Given the description of an element on the screen output the (x, y) to click on. 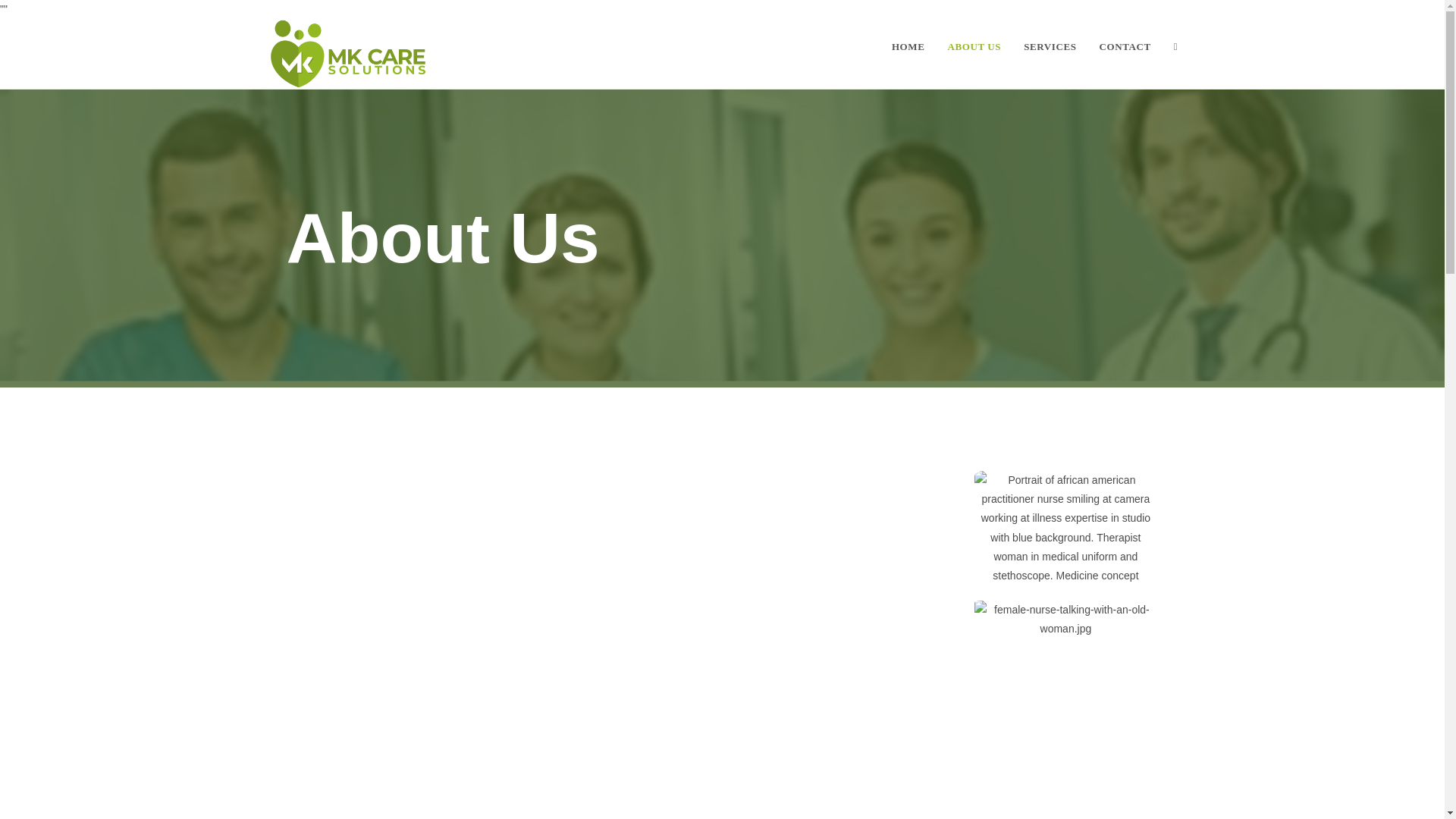
SERVICES (1049, 46)
HOME (908, 46)
ABOUT US (973, 46)
female-nurse-talking-with-an-old-woman.jpg (1065, 619)
CONTACT (1124, 46)
